Given the description of an element on the screen output the (x, y) to click on. 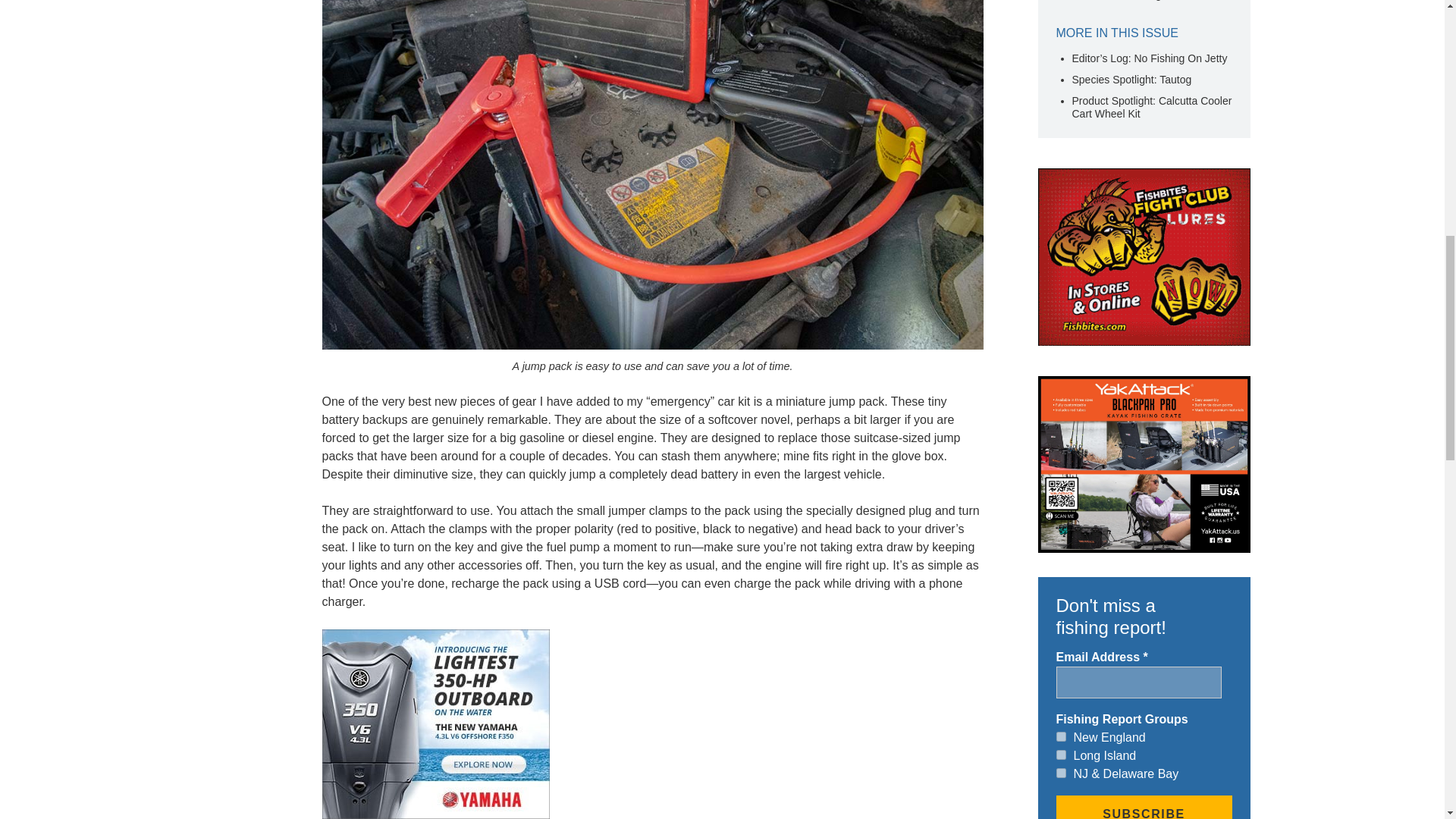
1 (1060, 737)
2 (1060, 755)
4 (1060, 773)
Subscribe (1143, 807)
